Given the description of an element on the screen output the (x, y) to click on. 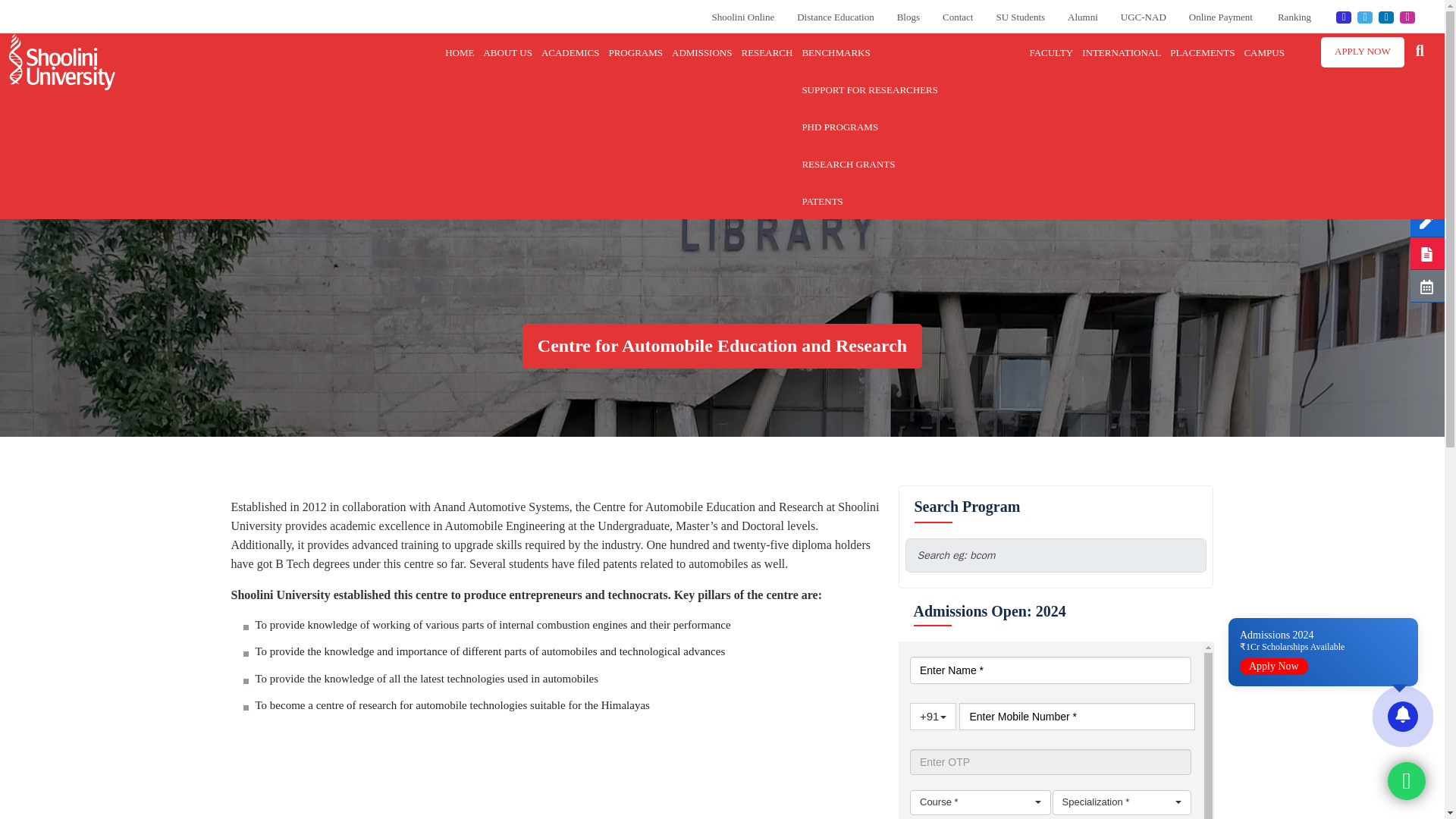
Online Payment (1222, 16)
Ranking (1295, 16)
Blogs (908, 16)
Alumni (1082, 16)
Distance Education (834, 16)
HOME (461, 51)
Contact (957, 16)
UGC-NAD (1143, 16)
ACADEMICS (571, 51)
SU Students (1020, 16)
Shoolini Online (742, 16)
ABOUT US (508, 51)
